Given the description of an element on the screen output the (x, y) to click on. 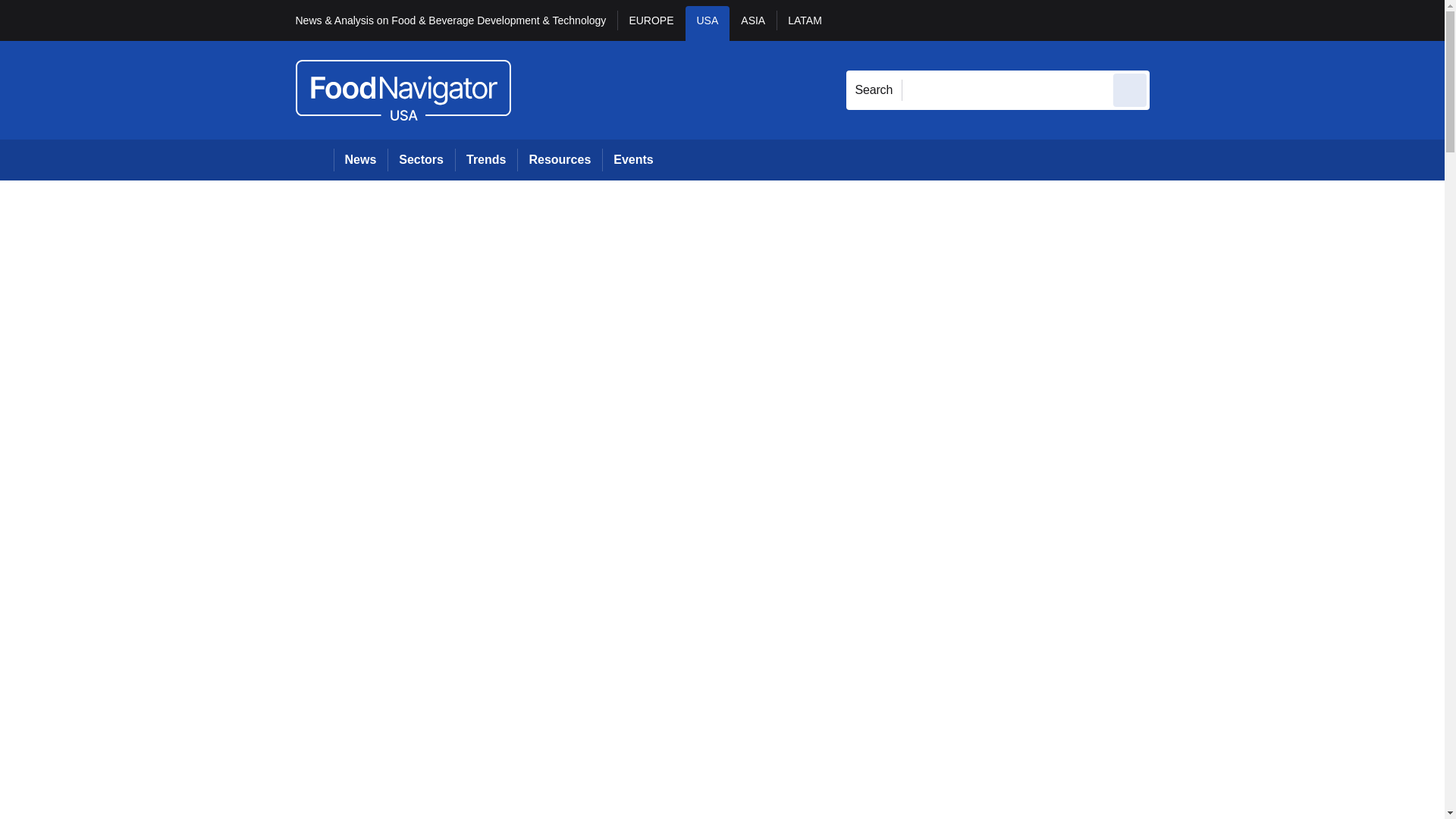
FoodNavigator USA (403, 89)
EUROPE (650, 22)
ASIA (752, 22)
Home (313, 159)
LATAM (804, 22)
USA (707, 22)
Send (1129, 90)
Sectors (420, 159)
Send (1129, 89)
News (360, 159)
Home (314, 159)
Sign out (1174, 20)
My account (1256, 20)
REGISTER (1250, 20)
Sign in (1171, 20)
